Given the description of an element on the screen output the (x, y) to click on. 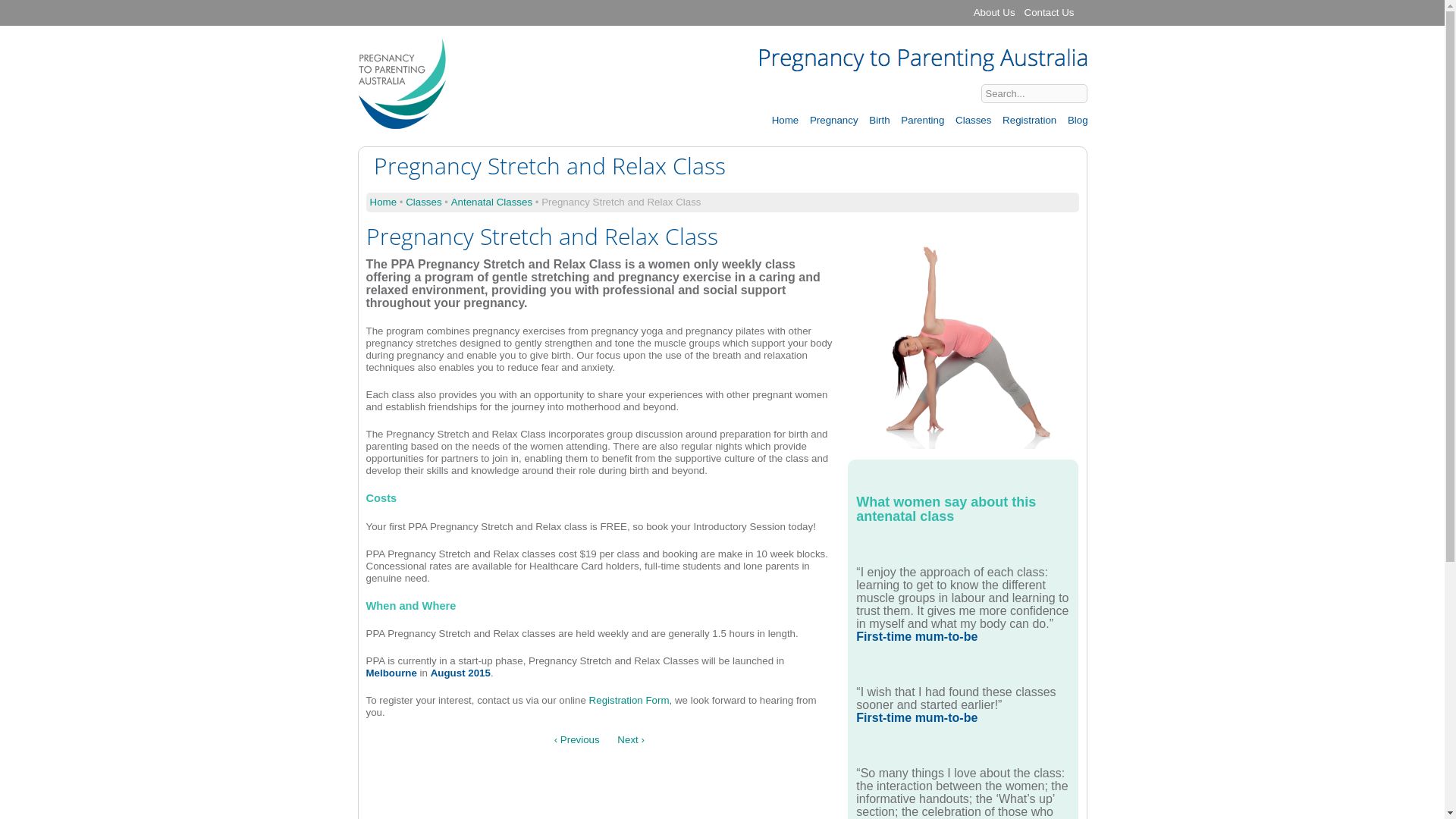
About Us Element type: text (994, 12)
Pregnancy Stretch and Relax Class Element type: hover (963, 442)
Home Element type: text (784, 119)
Home Element type: text (383, 201)
Search Element type: text (1111, 92)
Enter the terms you wish to search for. Element type: hover (1034, 93)
Home Element type: hover (401, 122)
Parenting Element type: text (921, 119)
Antenatal Classes Element type: text (491, 201)
Contact Us Element type: text (1049, 12)
Skip to main content Element type: text (690, 1)
Registration Form, Element type: text (631, 700)
Birth Element type: text (878, 119)
Pregnancy Element type: text (833, 119)
Registration Element type: text (1028, 119)
Blog Element type: text (1076, 119)
Pregnancy to Parenting Australia Element type: text (437, 58)
Classes Element type: text (972, 119)
Classes Element type: text (423, 201)
